Given the description of an element on the screen output the (x, y) to click on. 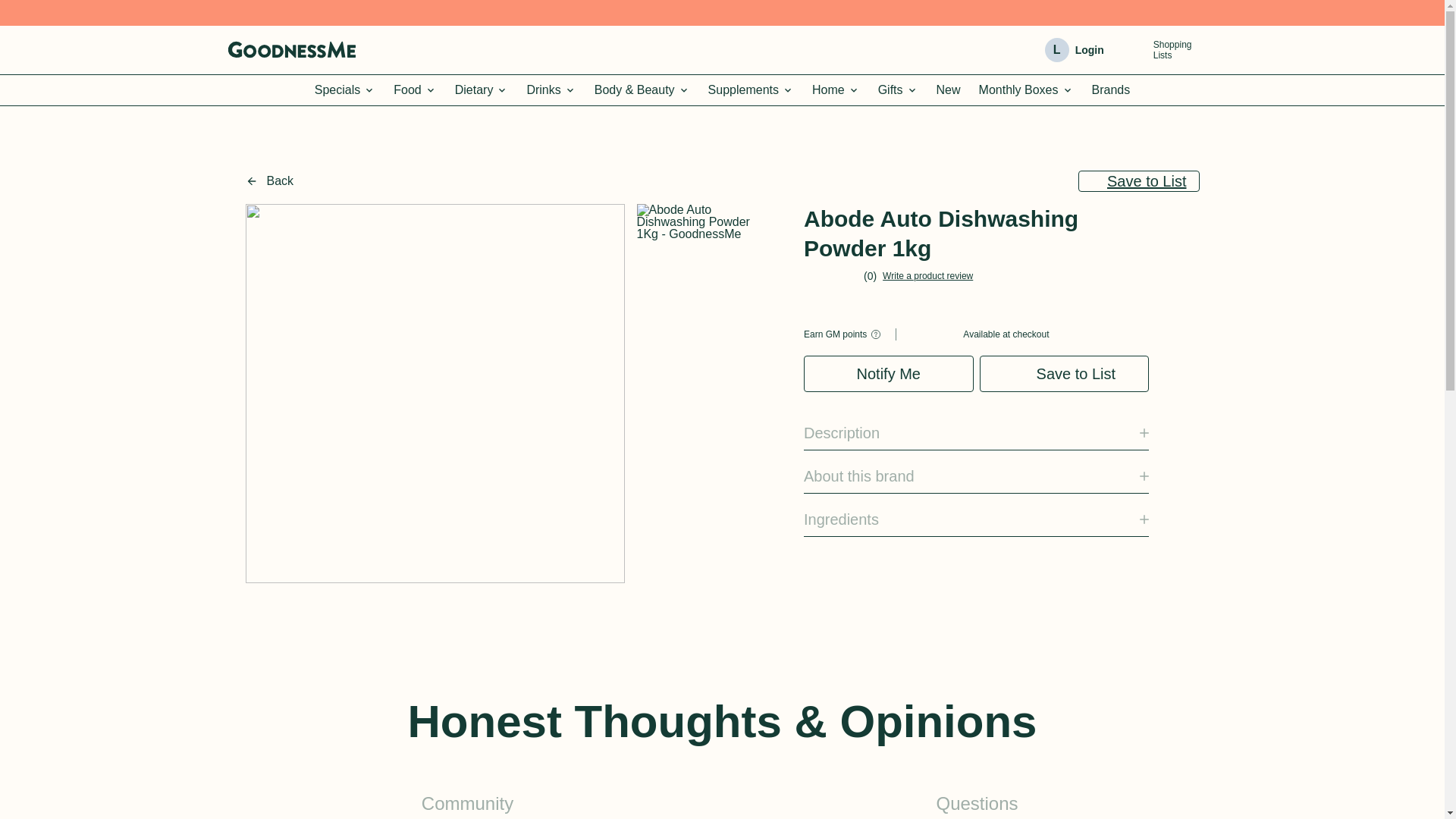
Food (414, 90)
Food (414, 90)
Specials (344, 90)
Open Shopping Lists (1134, 49)
Specials (344, 90)
Manage account (1089, 50)
Login (1158, 49)
